Given the description of an element on the screen output the (x, y) to click on. 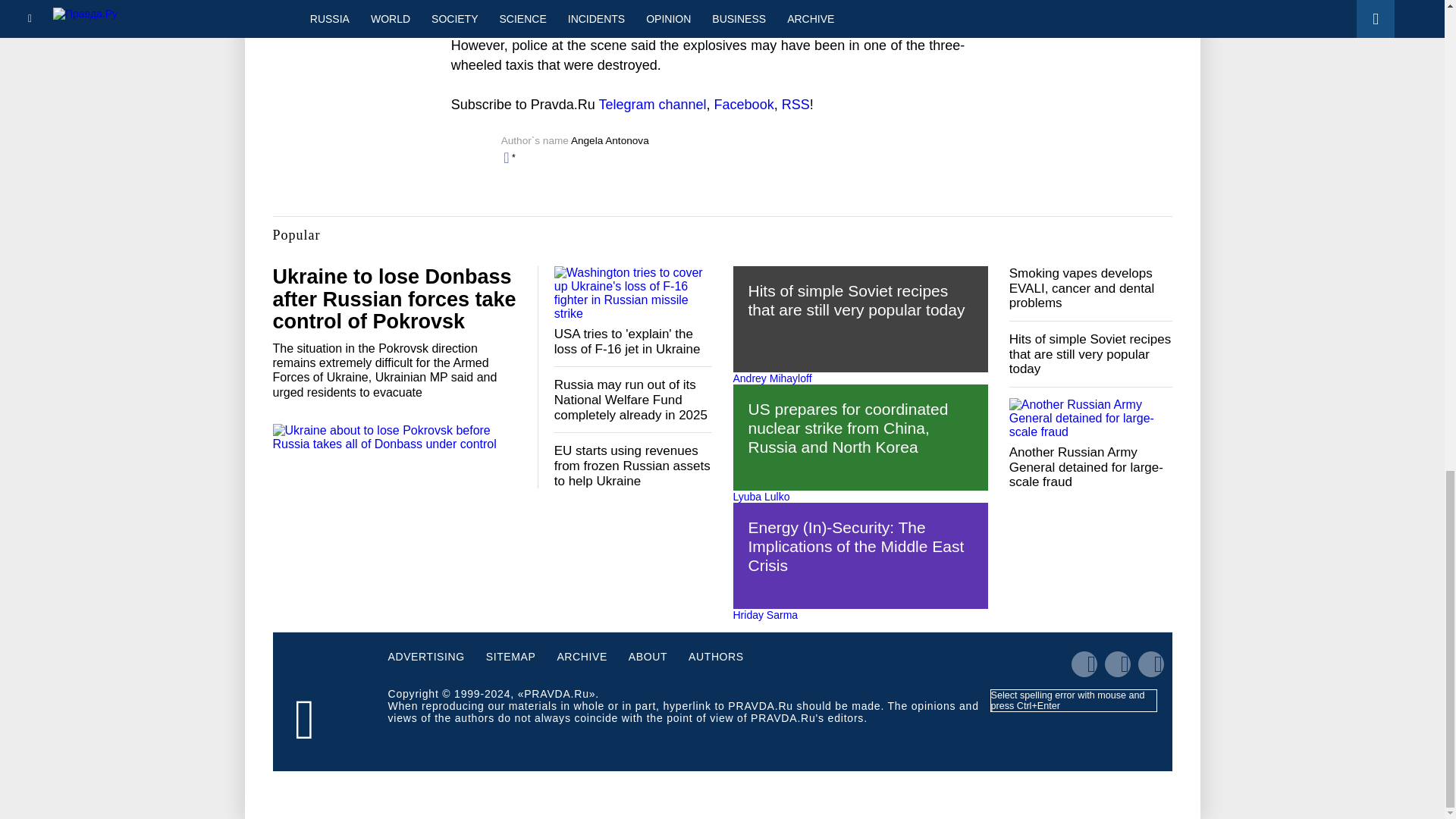
Telegram channel (652, 104)
Angela Antonova (609, 140)
Facebook (744, 104)
RSS (795, 104)
